Given the description of an element on the screen output the (x, y) to click on. 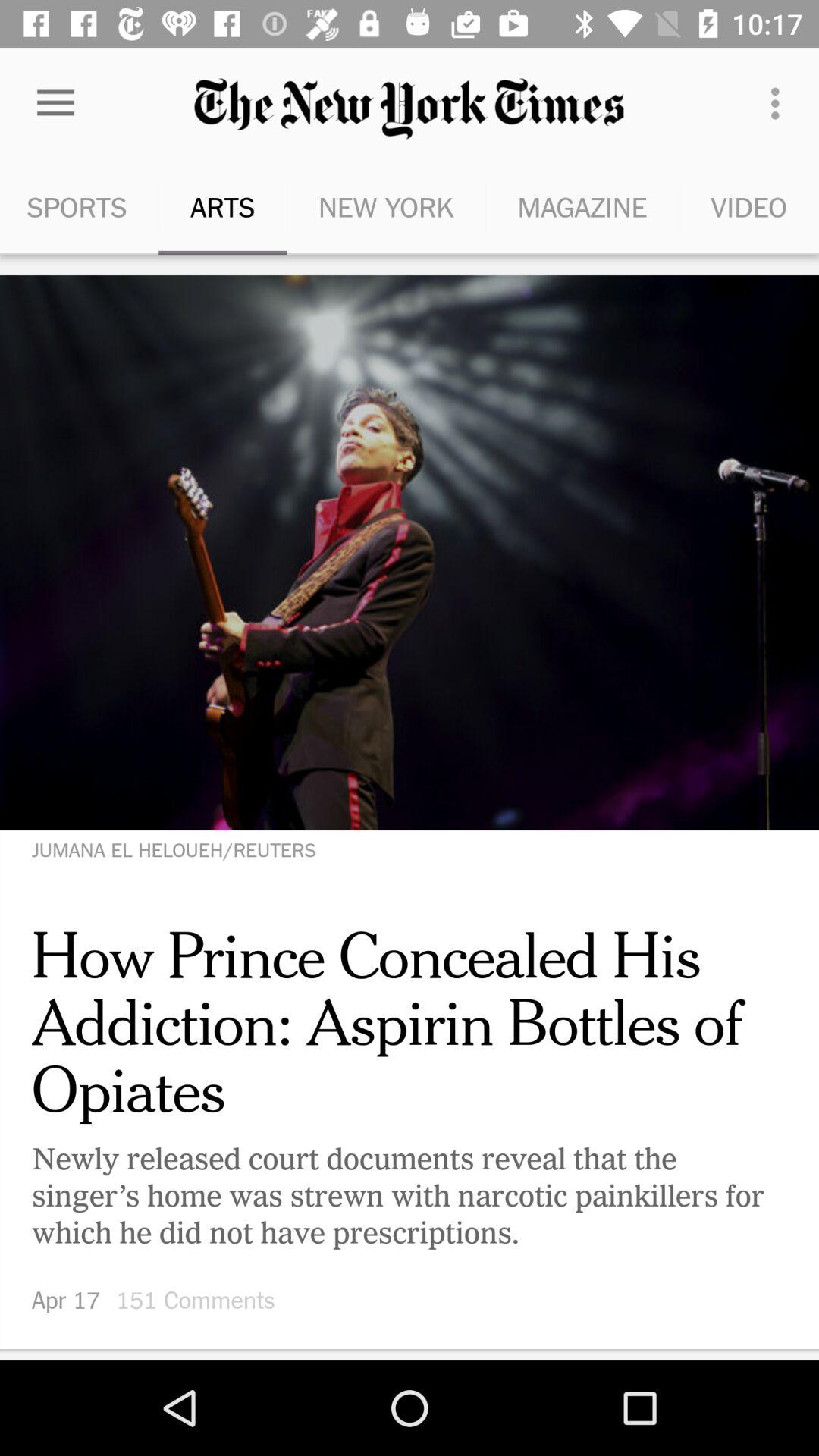
click the icon to the right of the arts item (385, 206)
